Given the description of an element on the screen output the (x, y) to click on. 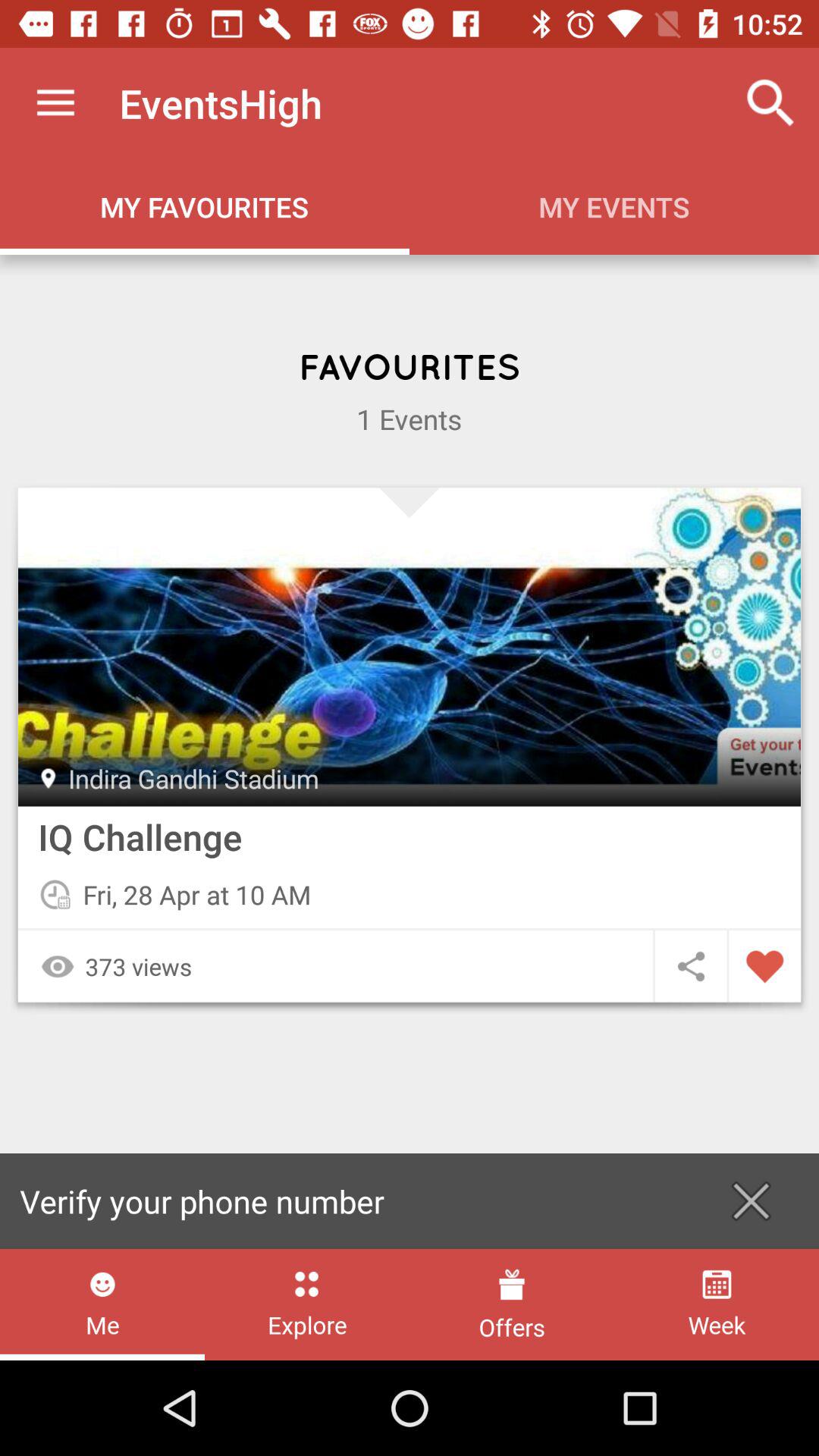
tap me item (101, 1304)
